Given the description of an element on the screen output the (x, y) to click on. 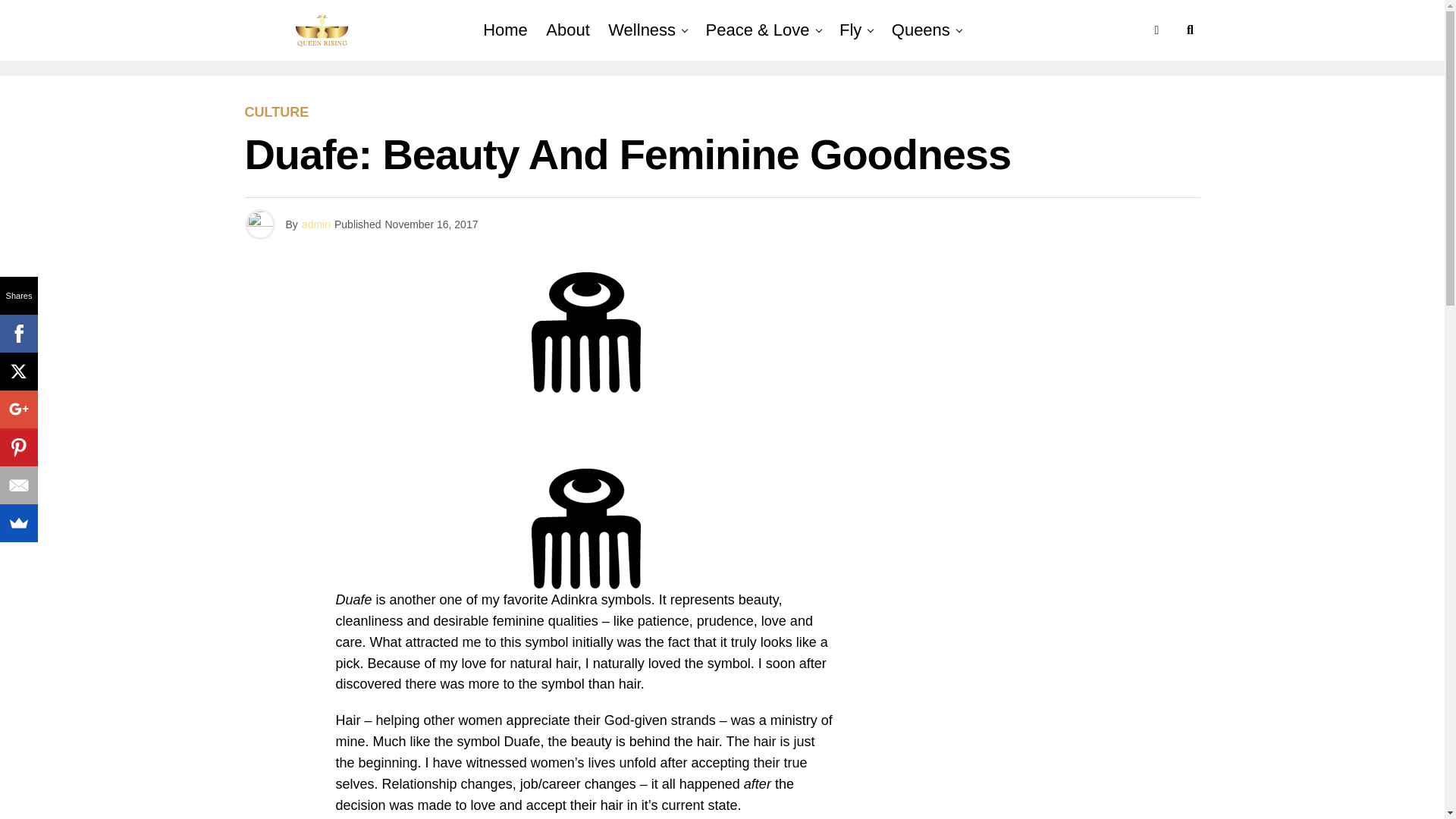
Facebook (18, 333)
Posts by admin (315, 224)
X (18, 371)
Home (505, 30)
About (567, 30)
Wellness (640, 30)
